Given the description of an element on the screen output the (x, y) to click on. 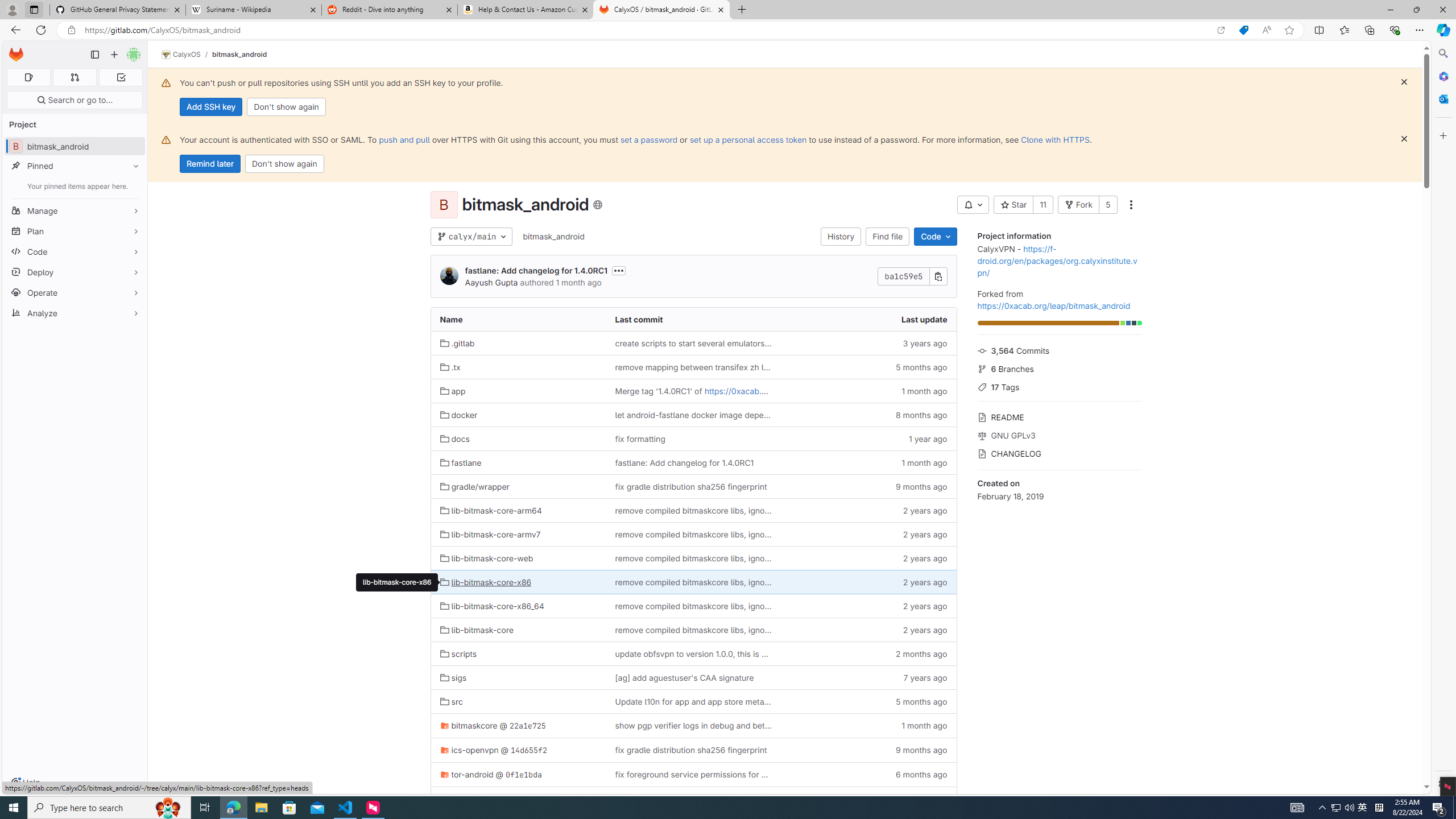
lib-bitmask-core-arm64 (517, 509)
Last commit (693, 319)
Aayush Gupta's avatar (448, 275)
fix foreground service permissions for Android API 34 (692, 774)
CalyxOS (180, 54)
Class: s16 gl-alert-icon gl-alert-icon-no-title (165, 139)
History (840, 236)
Code (74, 251)
More actions (1130, 204)
To-Do list 0 (120, 76)
README (1058, 416)
Remind later (210, 163)
